Given the description of an element on the screen output the (x, y) to click on. 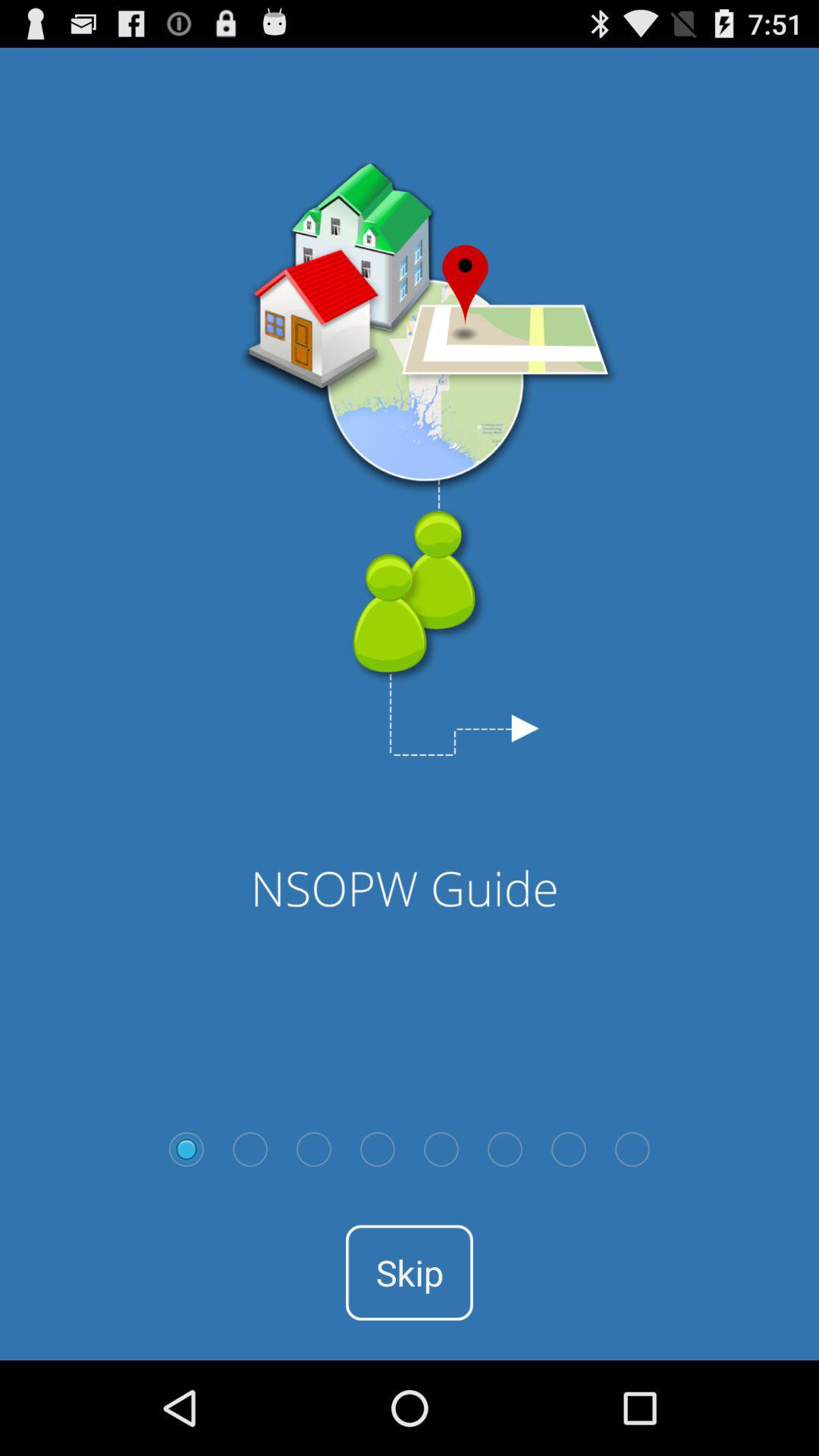
go to hide (377, 1149)
